Given the description of an element on the screen output the (x, y) to click on. 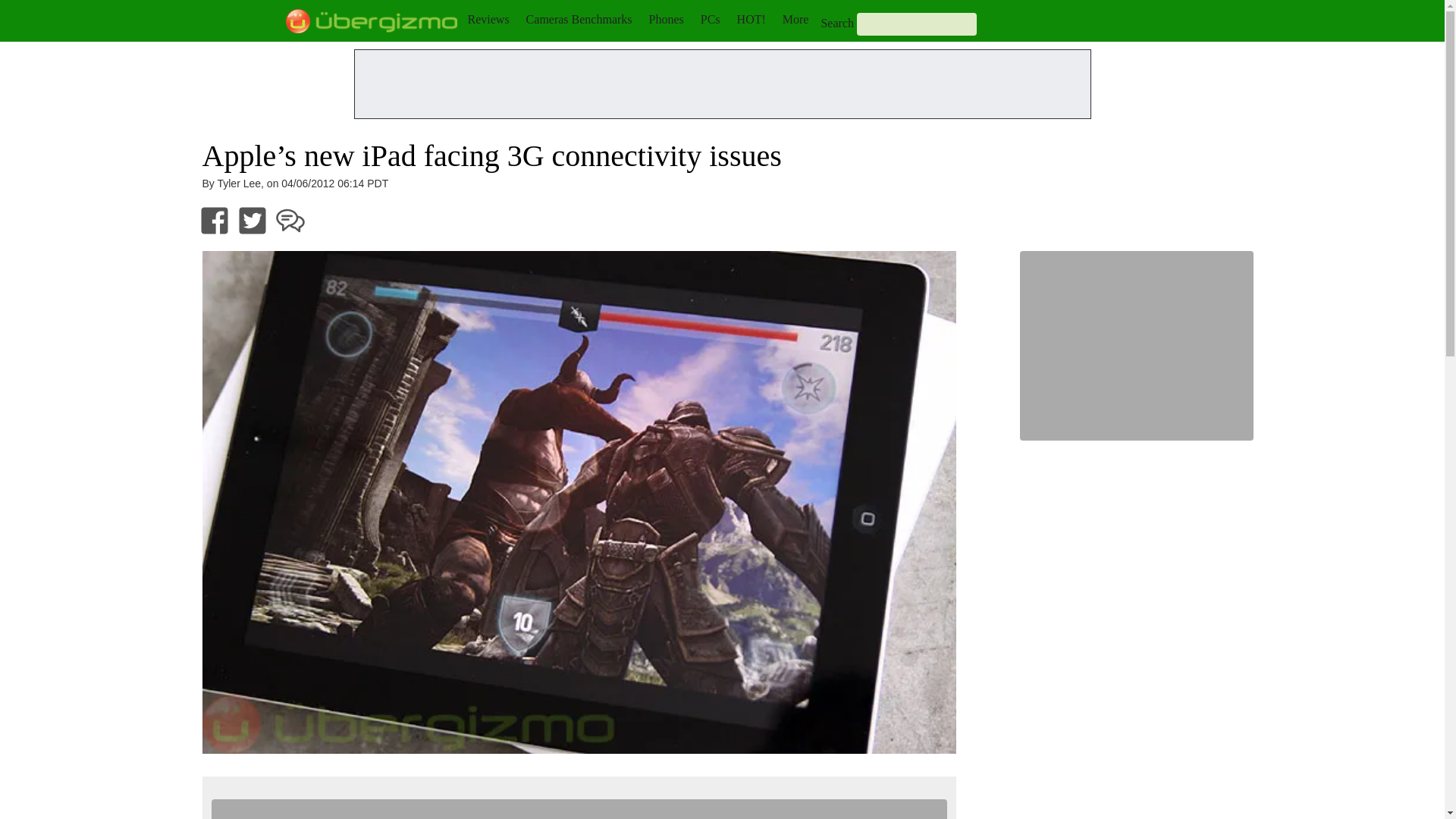
Phones (666, 19)
PCs (710, 19)
Reviews (487, 19)
Cameras Benchmarks (578, 19)
